Given the description of an element on the screen output the (x, y) to click on. 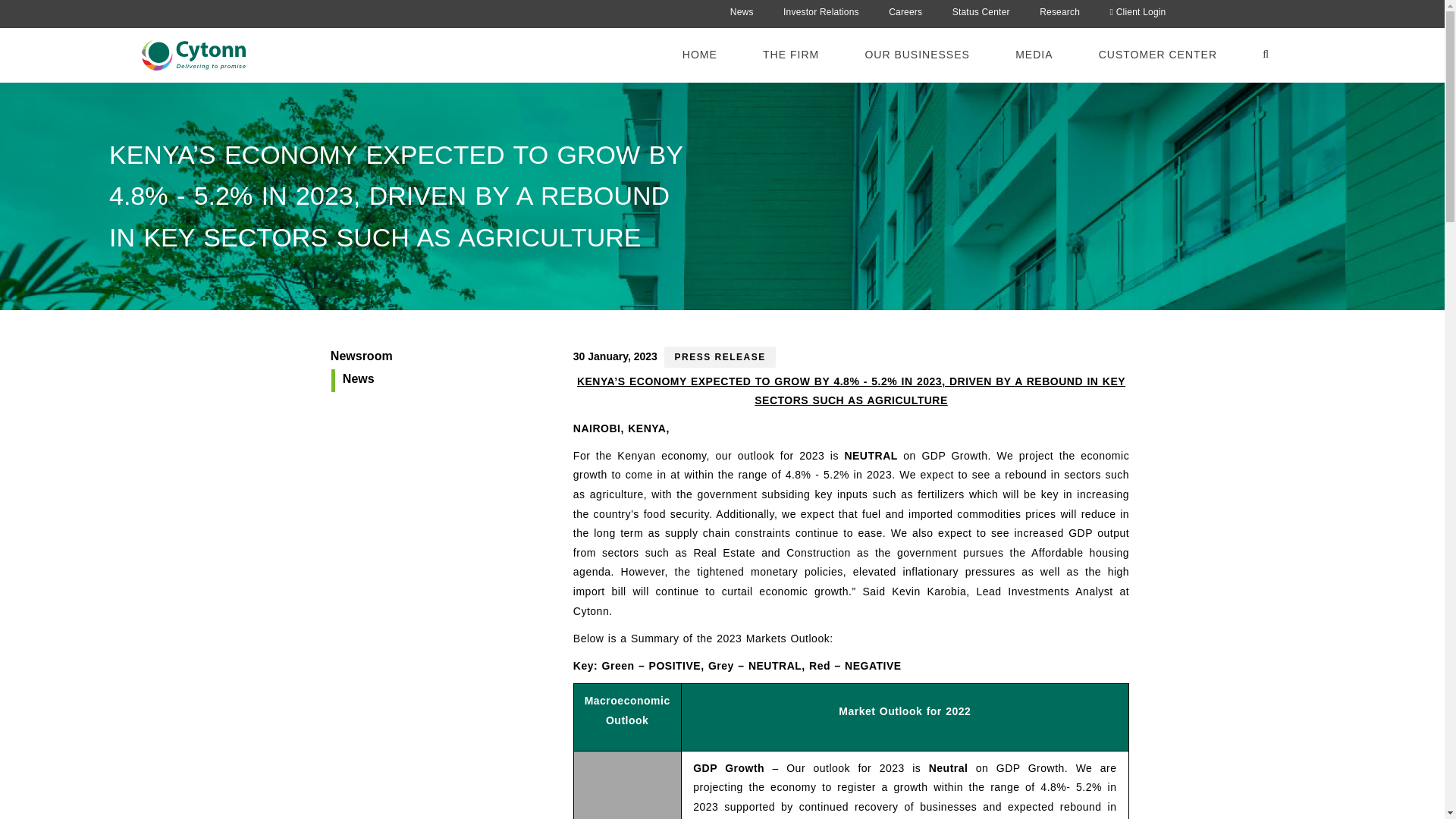
Research (1059, 11)
OUR BUSINESSES (916, 53)
Status Center (981, 11)
THE FIRM (791, 53)
News (742, 11)
Investor Relations (821, 11)
Client Login (1137, 11)
HOME (699, 53)
Careers (904, 11)
